Given the description of an element on the screen output the (x, y) to click on. 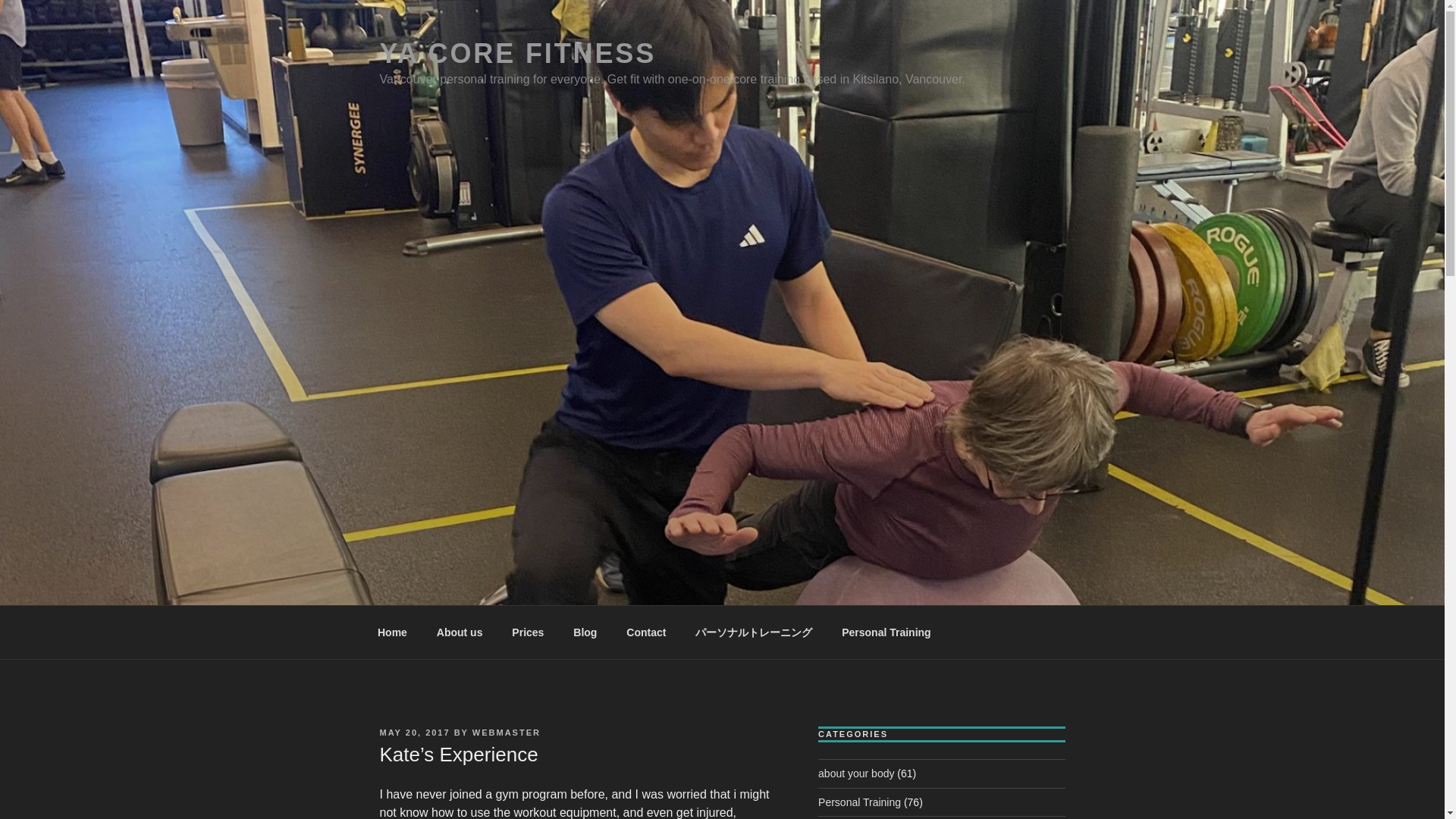
Personal Training (885, 632)
About us (459, 632)
YA CORE FITNESS (517, 52)
WEBMASTER (505, 732)
Personal Training (859, 802)
MAY 20, 2017 (413, 732)
Blog (585, 632)
about your body (855, 773)
Prices (528, 632)
Contact (645, 632)
